Given the description of an element on the screen output the (x, y) to click on. 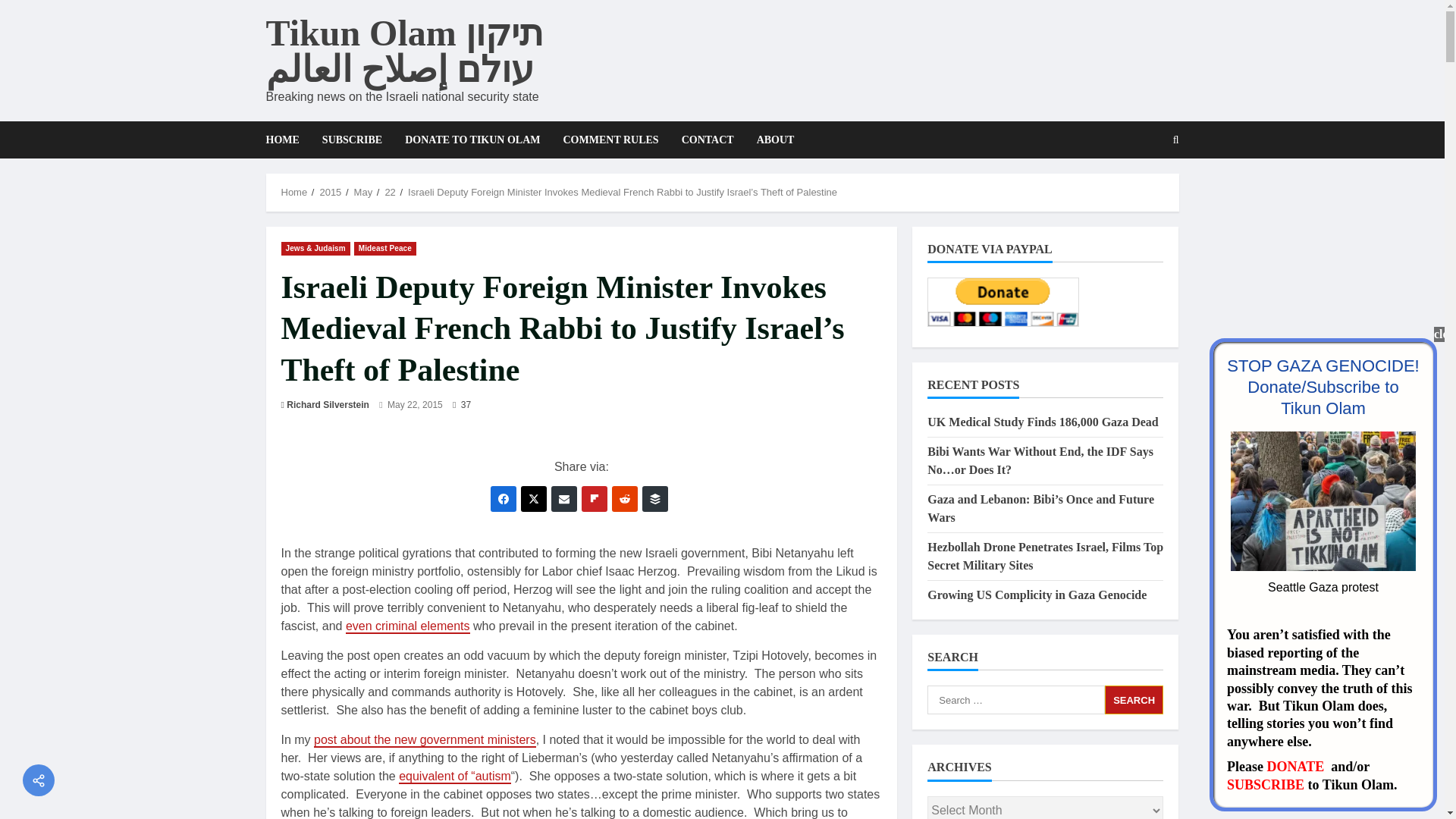
HOME (287, 139)
2015 (329, 192)
ABOUT (769, 139)
even criminal elements (408, 626)
COMMENT RULES (610, 139)
CONTACT (707, 139)
Search (1134, 699)
Search (1139, 191)
SUBSCRIBE (352, 139)
Richard Silverstein (327, 404)
DONATE TO TIKUN OLAM (472, 139)
Mideast Peace (384, 247)
37 (461, 405)
May (362, 192)
22 (389, 192)
